Given the description of an element on the screen output the (x, y) to click on. 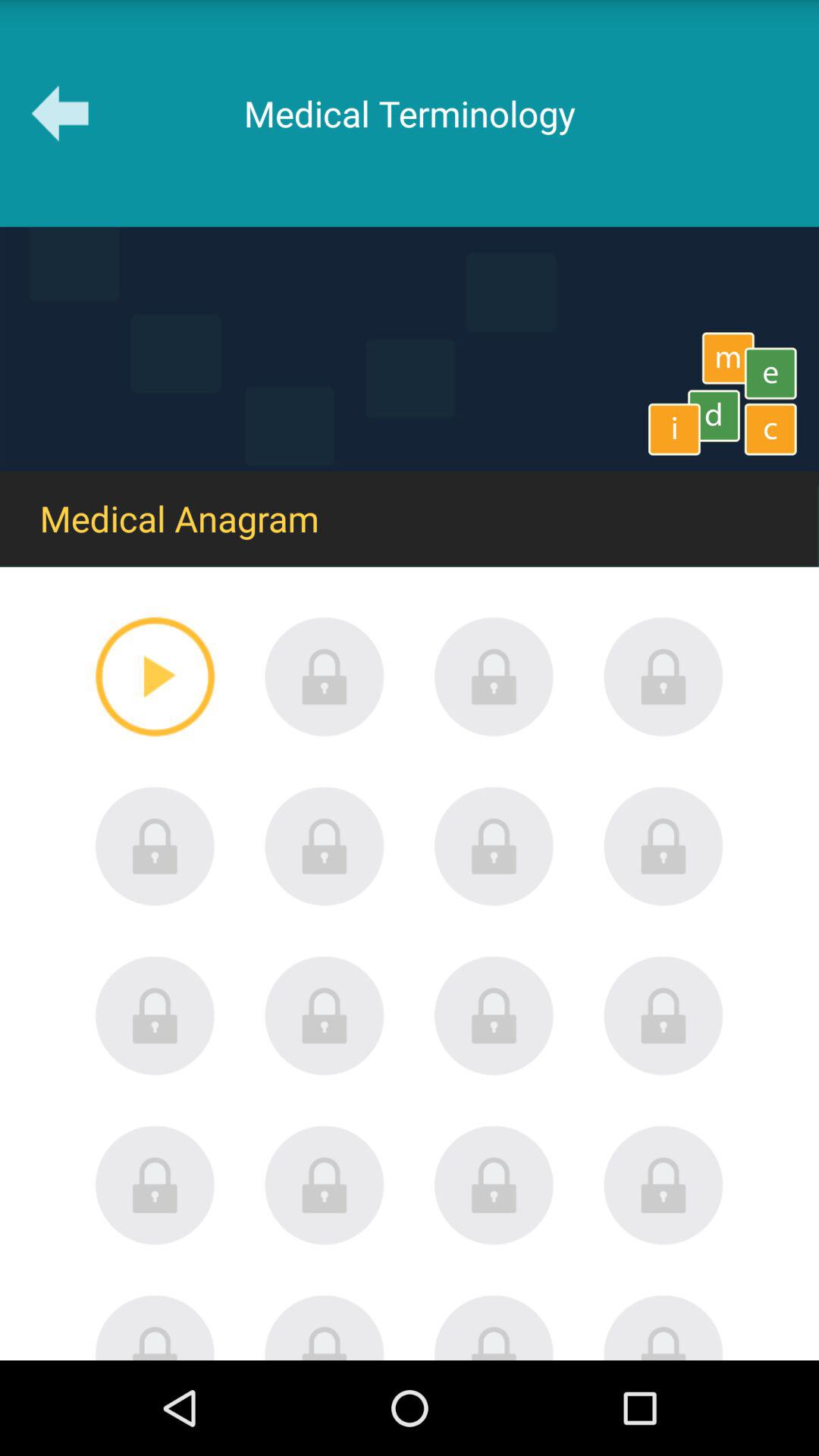
select play (154, 676)
